Given the description of an element on the screen output the (x, y) to click on. 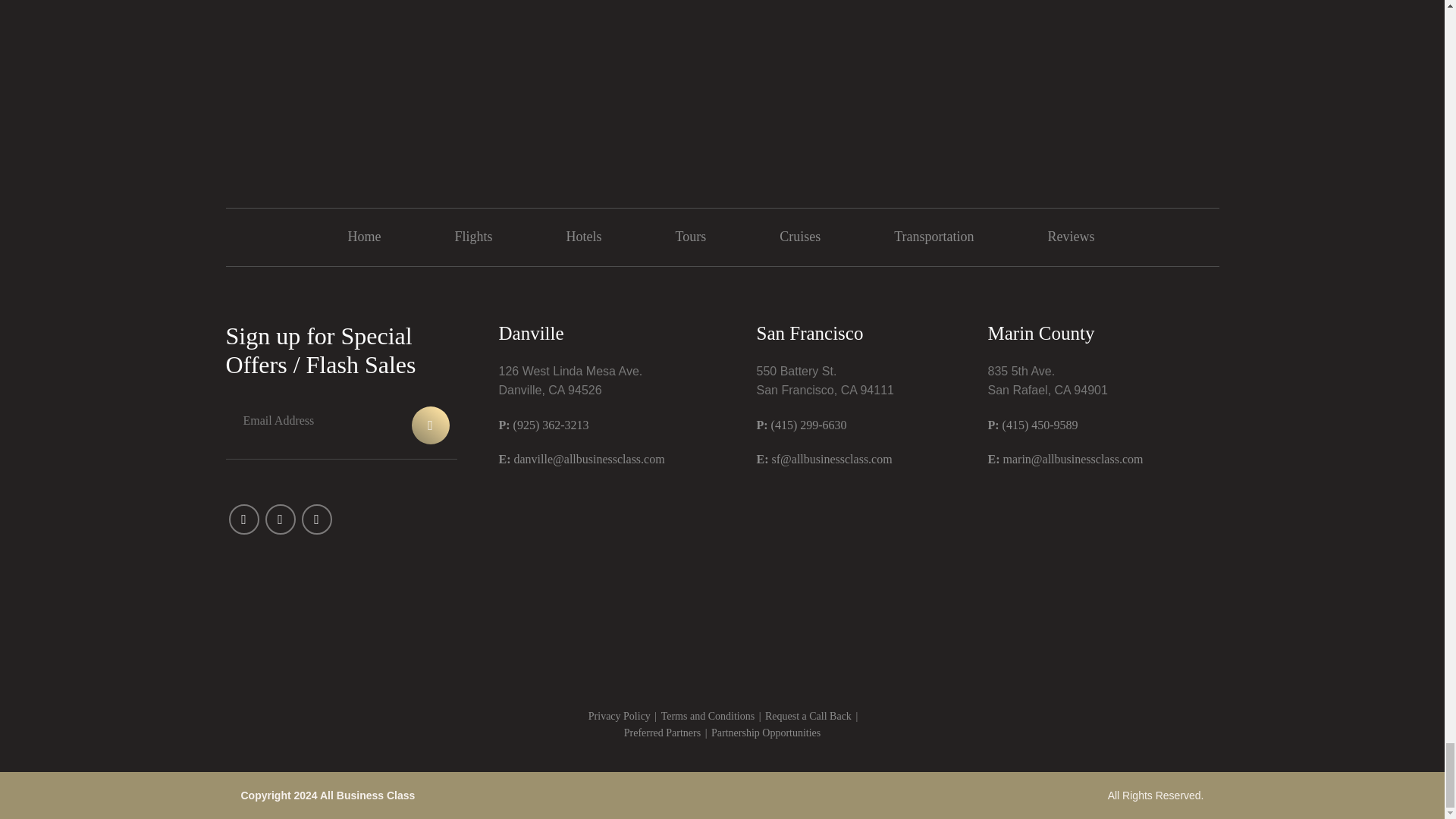
high-res-abc-logo (721, 84)
